Given the description of an element on the screen output the (x, y) to click on. 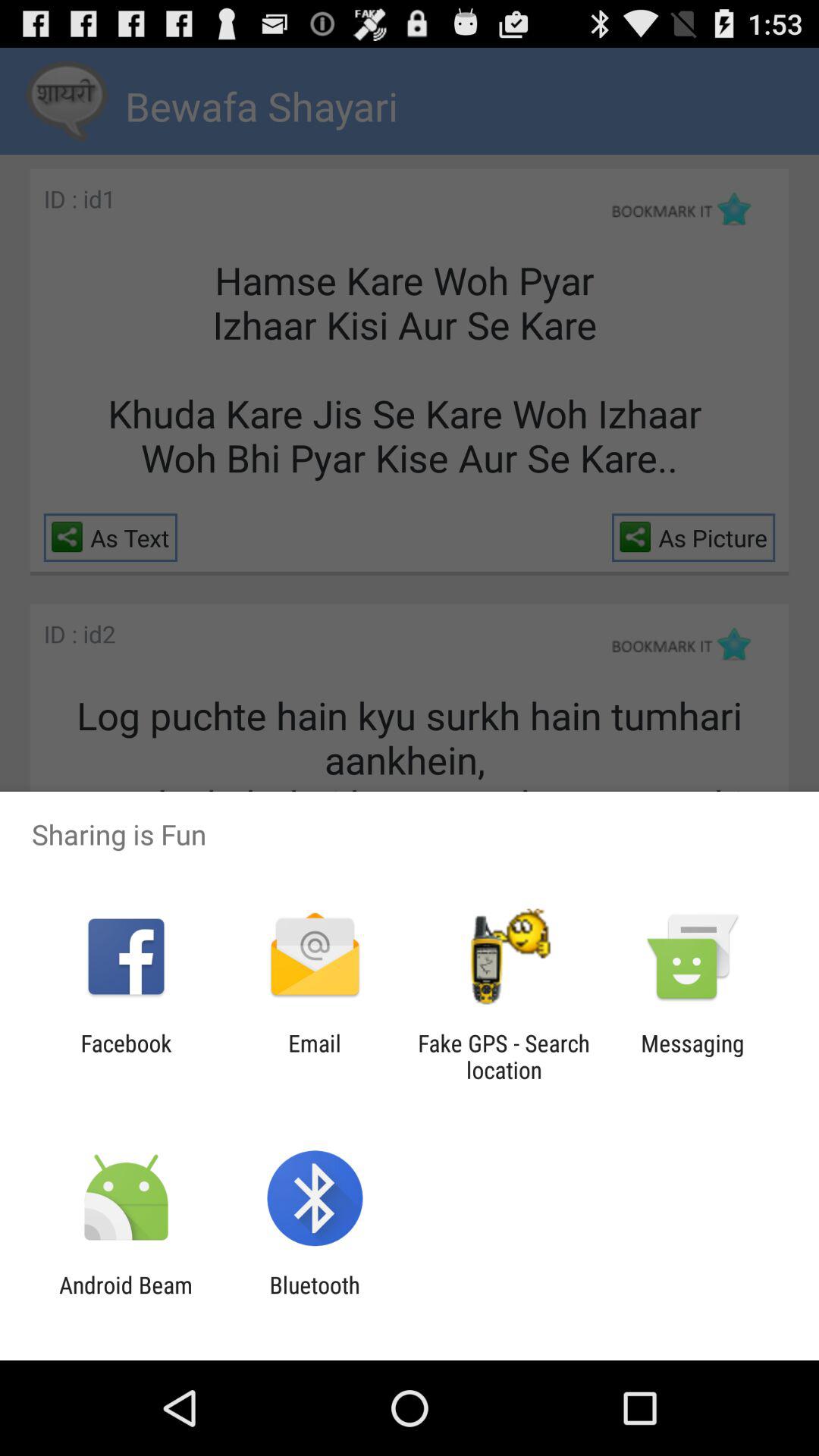
select icon next to the android beam (314, 1298)
